Given the description of an element on the screen output the (x, y) to click on. 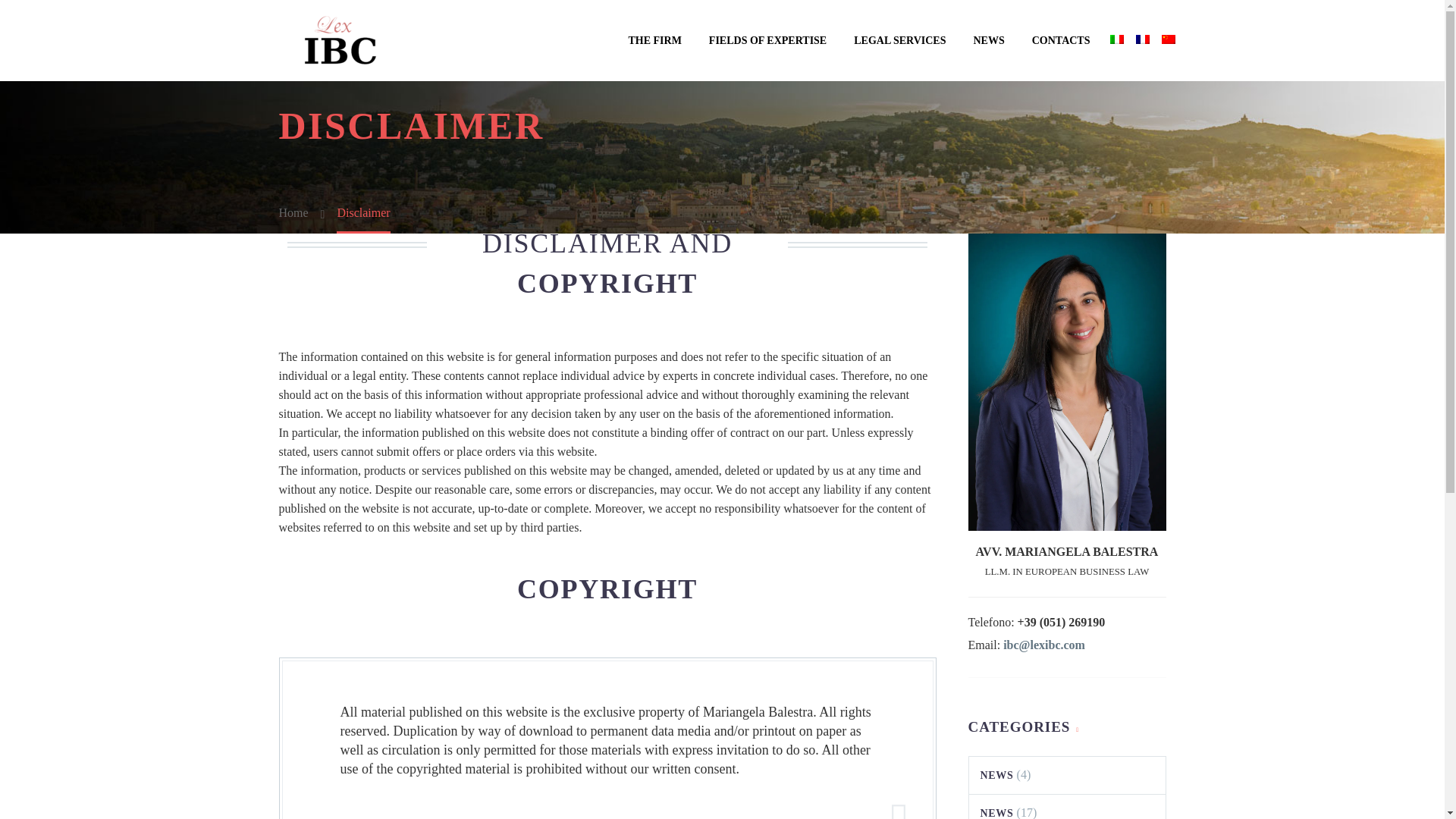
NEWS (996, 813)
LEGAL SERVICES (899, 40)
The Firm (654, 40)
THE FIRM (654, 40)
Home (293, 212)
FIELDS OF EXPERTISE (767, 40)
NEWS (987, 40)
NEWS (996, 775)
Legal services (899, 40)
CONTACTS (1061, 40)
